Given the description of an element on the screen output the (x, y) to click on. 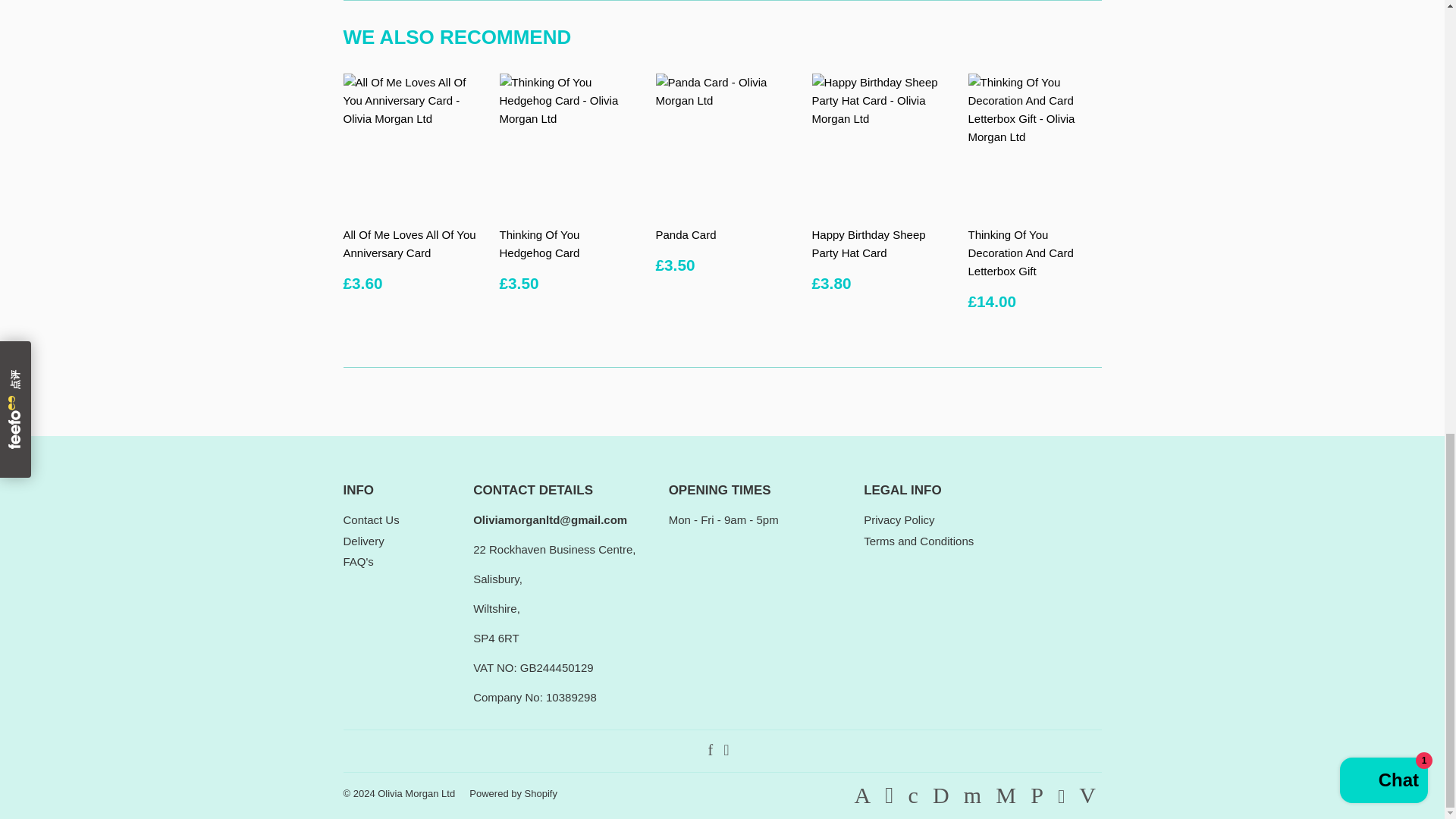
Olivia Morgan Ltd on Facebook (710, 750)
Olivia Morgan Ltd on Instagram (726, 750)
